Given the description of an element on the screen output the (x, y) to click on. 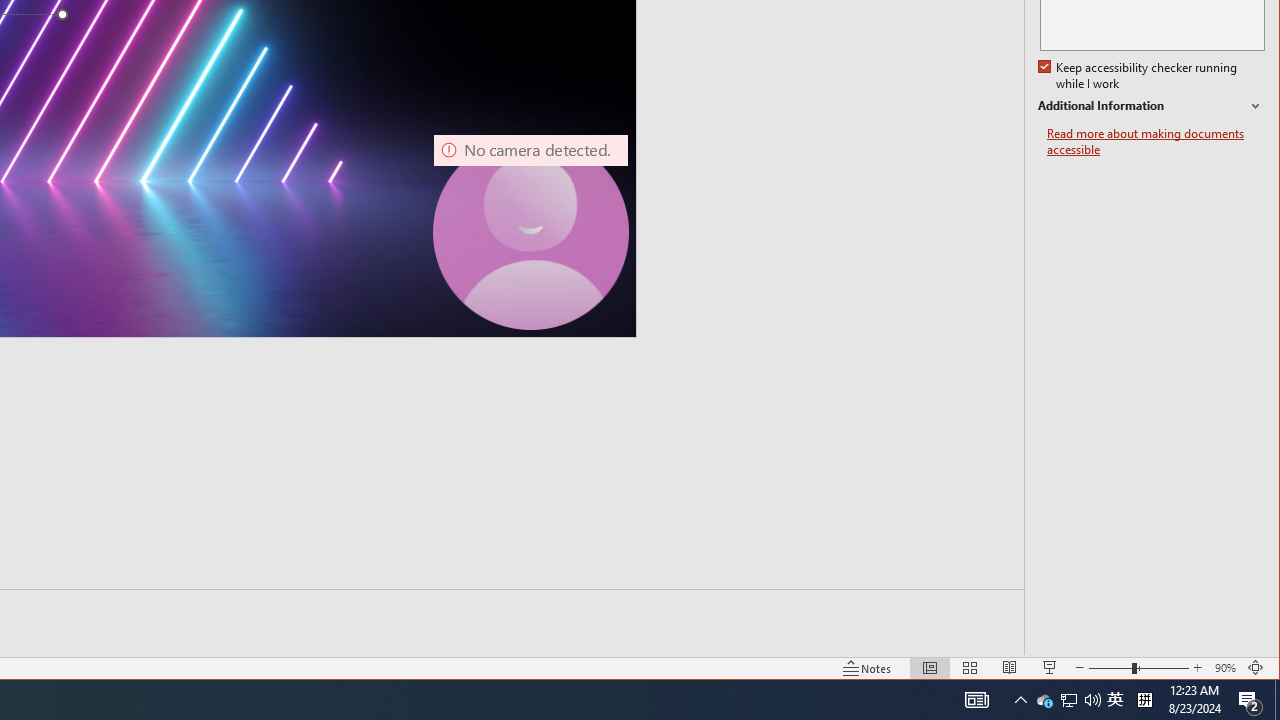
Notification Chevron (1069, 699)
Show desktop (1020, 699)
Read more about making documents accessible (1277, 699)
Tray Input Indicator - Chinese (Simplified, China) (1155, 142)
Action Center, 2 new notifications (1144, 699)
